Given the description of an element on the screen output the (x, y) to click on. 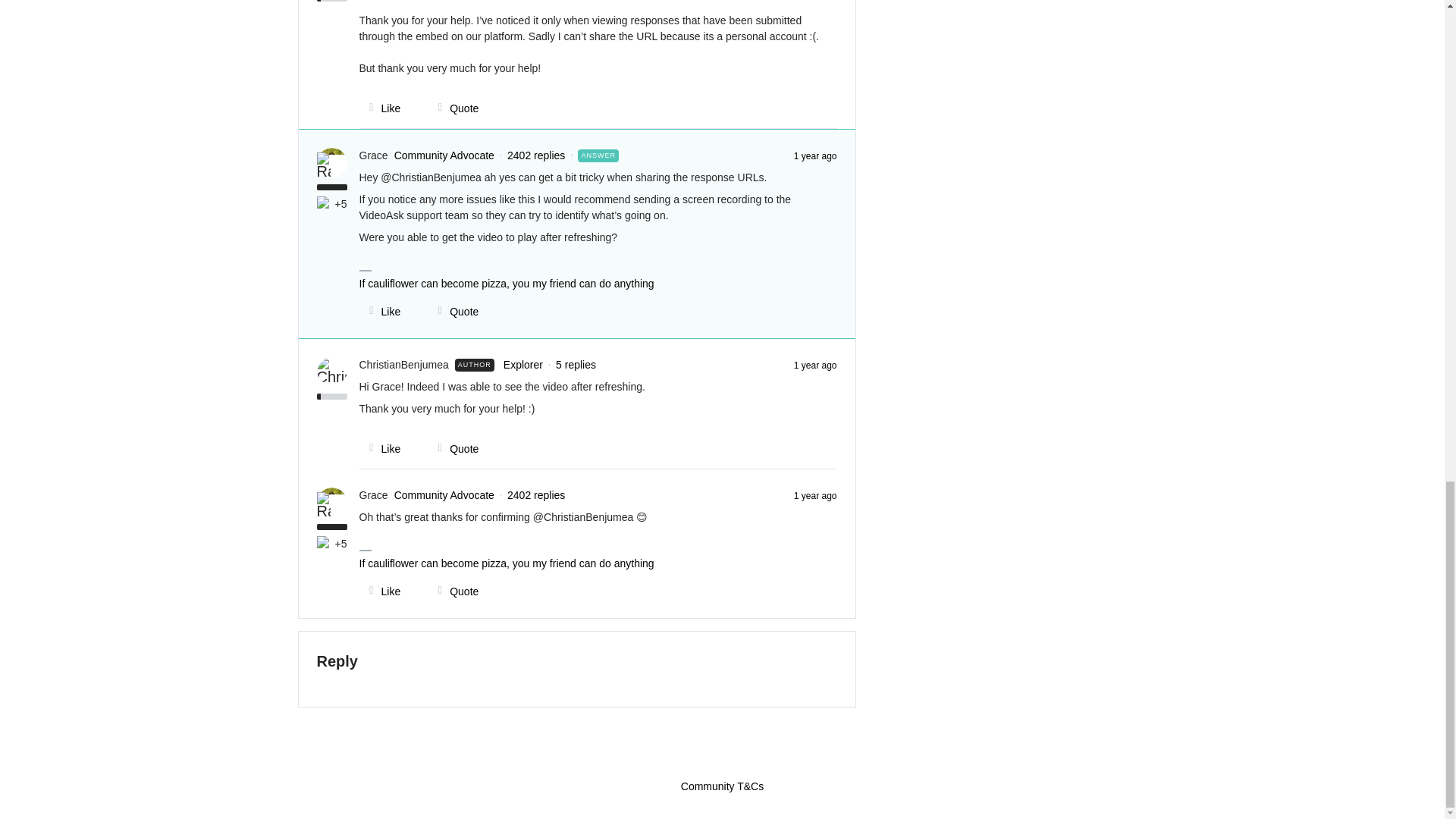
Grace (373, 155)
Visit Gainsight.com (722, 754)
Engineer (324, 543)
Like (380, 311)
Quote (453, 311)
ChristianBenjumea (403, 365)
Quote (453, 448)
Quote (453, 108)
1 year ago (815, 494)
Quote (453, 590)
